Given the description of an element on the screen output the (x, y) to click on. 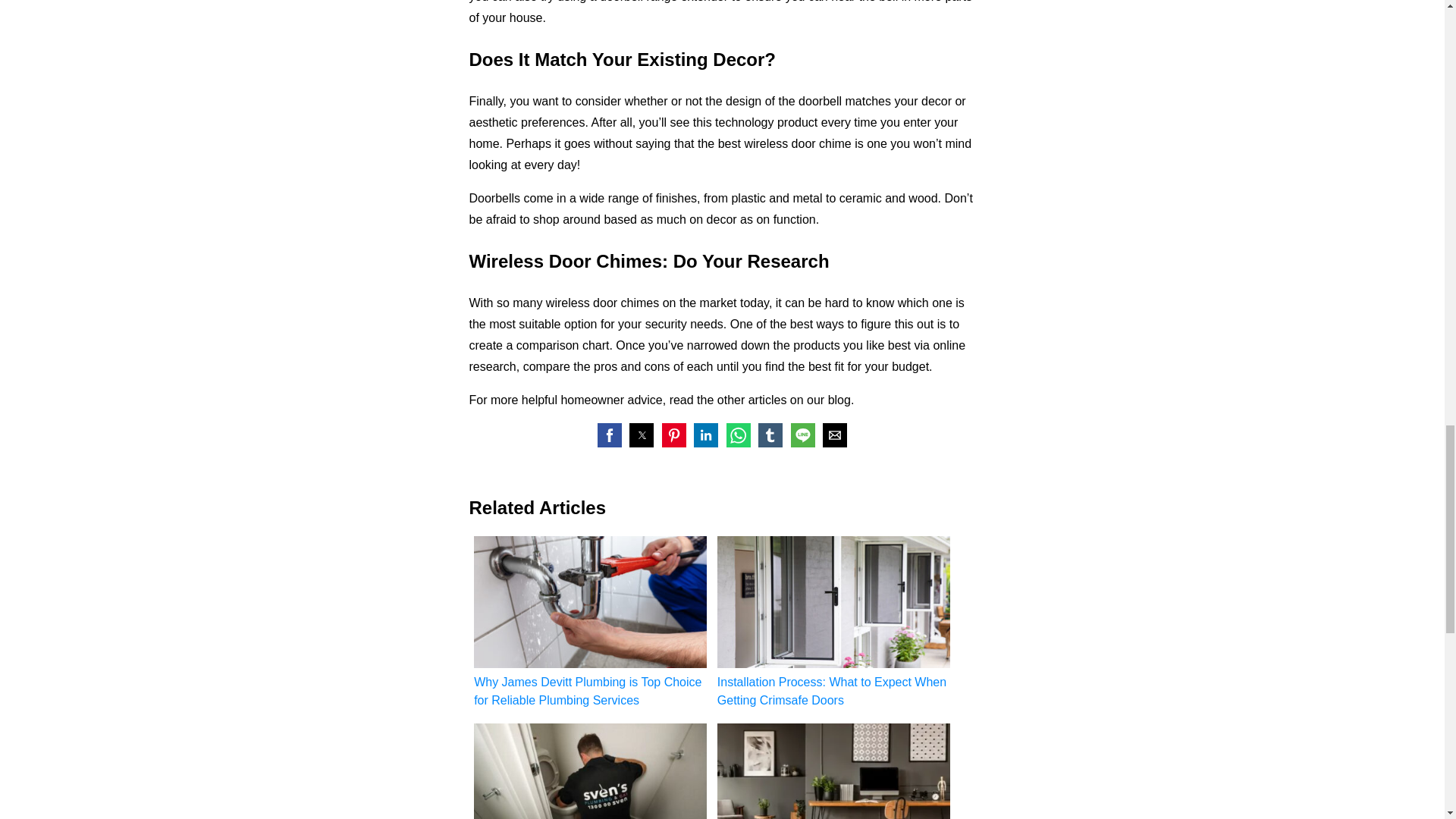
The Importance of Durable Commercial Flooring (833, 771)
